Given the description of an element on the screen output the (x, y) to click on. 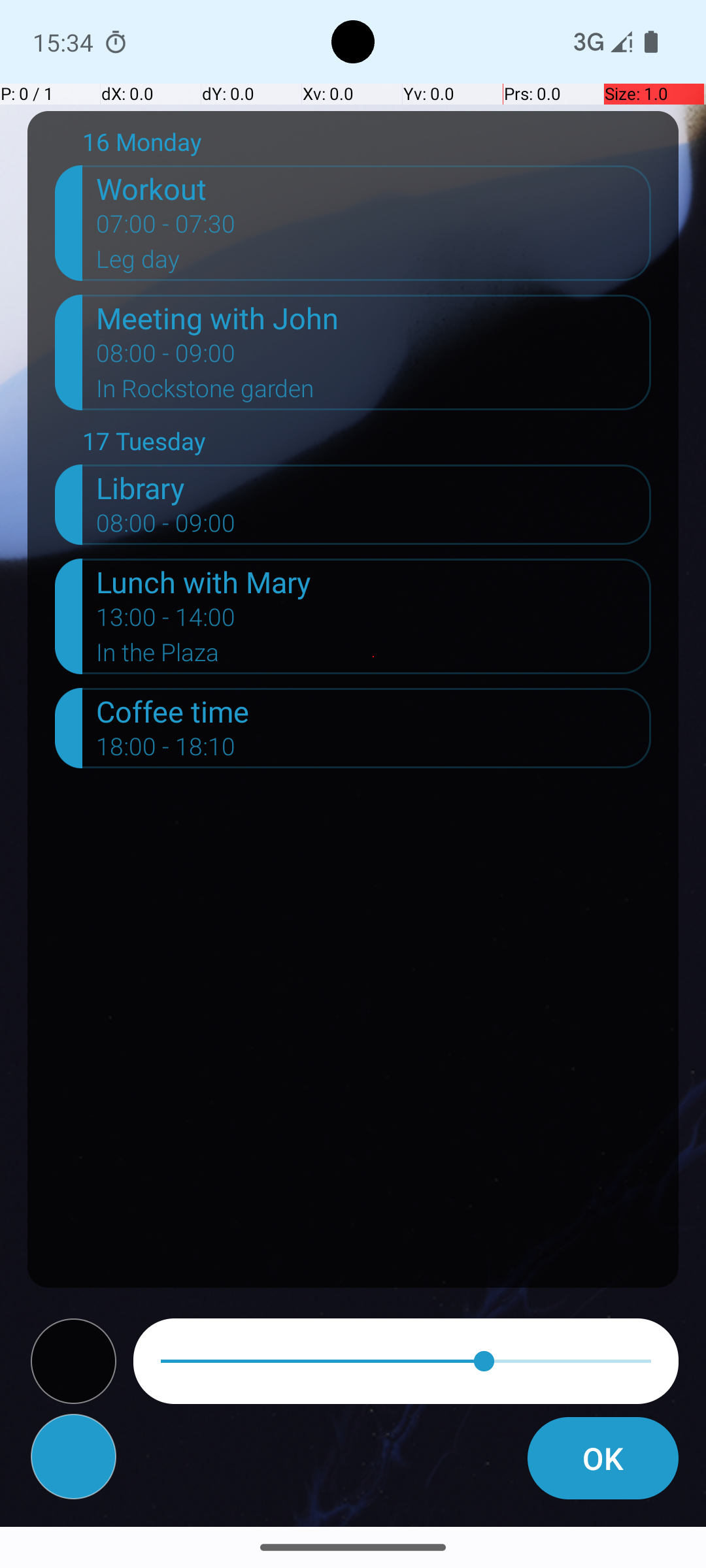
Workout Element type: android.widget.TextView (373, 187)
07:00 - 07:30 Element type: android.widget.TextView (165, 227)
Leg day Element type: android.widget.TextView (373, 262)
Meeting with John Element type: android.widget.TextView (373, 316)
08:00 - 09:00 Element type: android.widget.TextView (165, 357)
In Rockstone garden Element type: android.widget.TextView (373, 392)
Lunch with Mary Element type: android.widget.TextView (373, 580)
13:00 - 14:00 Element type: android.widget.TextView (165, 620)
In the Plaza Element type: android.widget.TextView (373, 656)
Coffee time Element type: android.widget.TextView (373, 710)
18:00 - 18:10 Element type: android.widget.TextView (165, 750)
